Given the description of an element on the screen output the (x, y) to click on. 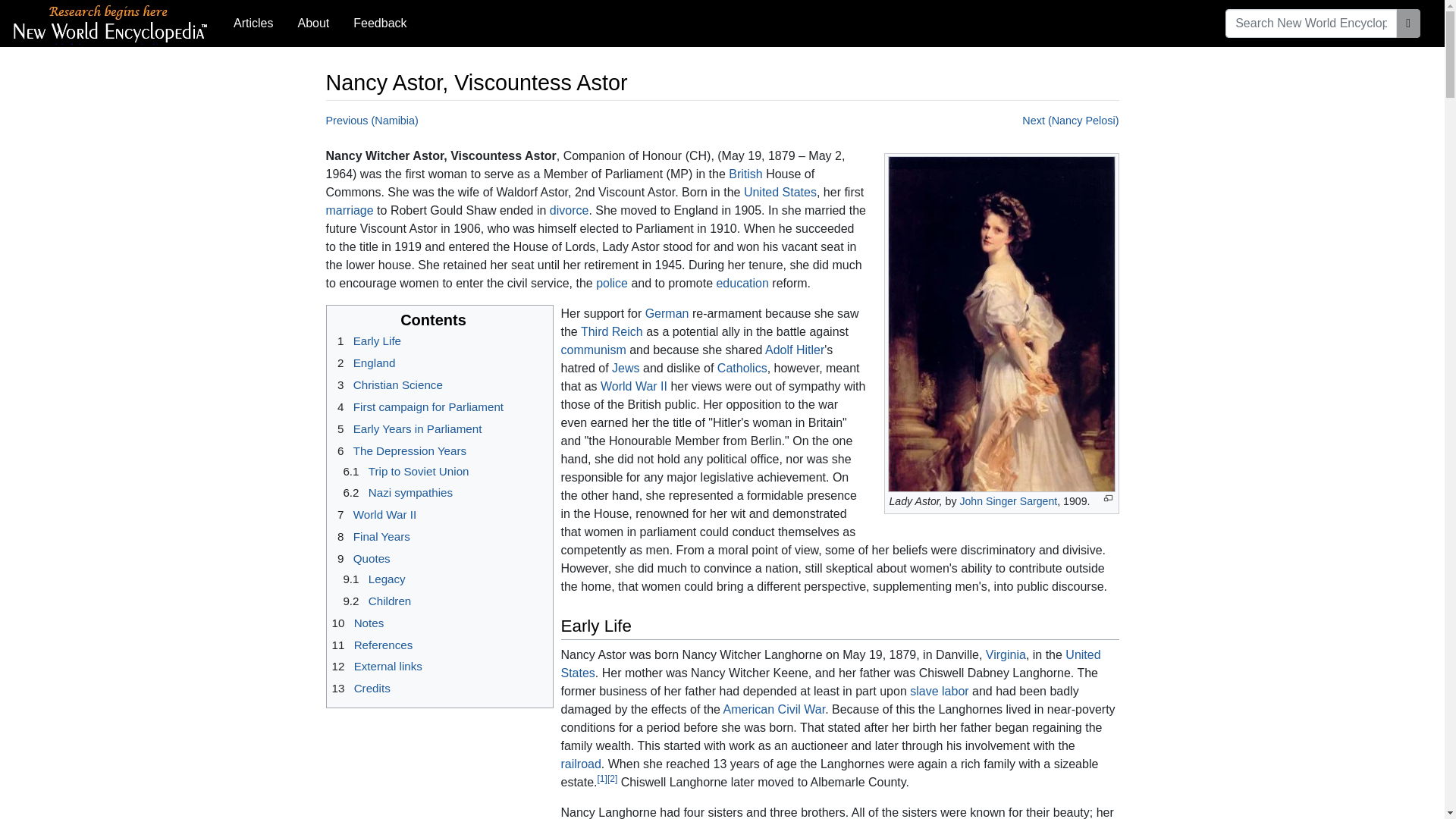
communism (593, 349)
9.1 Legacy (371, 578)
10 Notes (357, 622)
divorce (569, 210)
2 England (363, 362)
3 Christian Science (386, 384)
Judaism (625, 367)
6.1 Trip to Soviet Union (402, 471)
Communism (593, 349)
7 World War II (373, 513)
Adolf Hitler (794, 349)
Germany (666, 313)
13 Credits (360, 687)
British (745, 173)
11 References (372, 644)
